Given the description of an element on the screen output the (x, y) to click on. 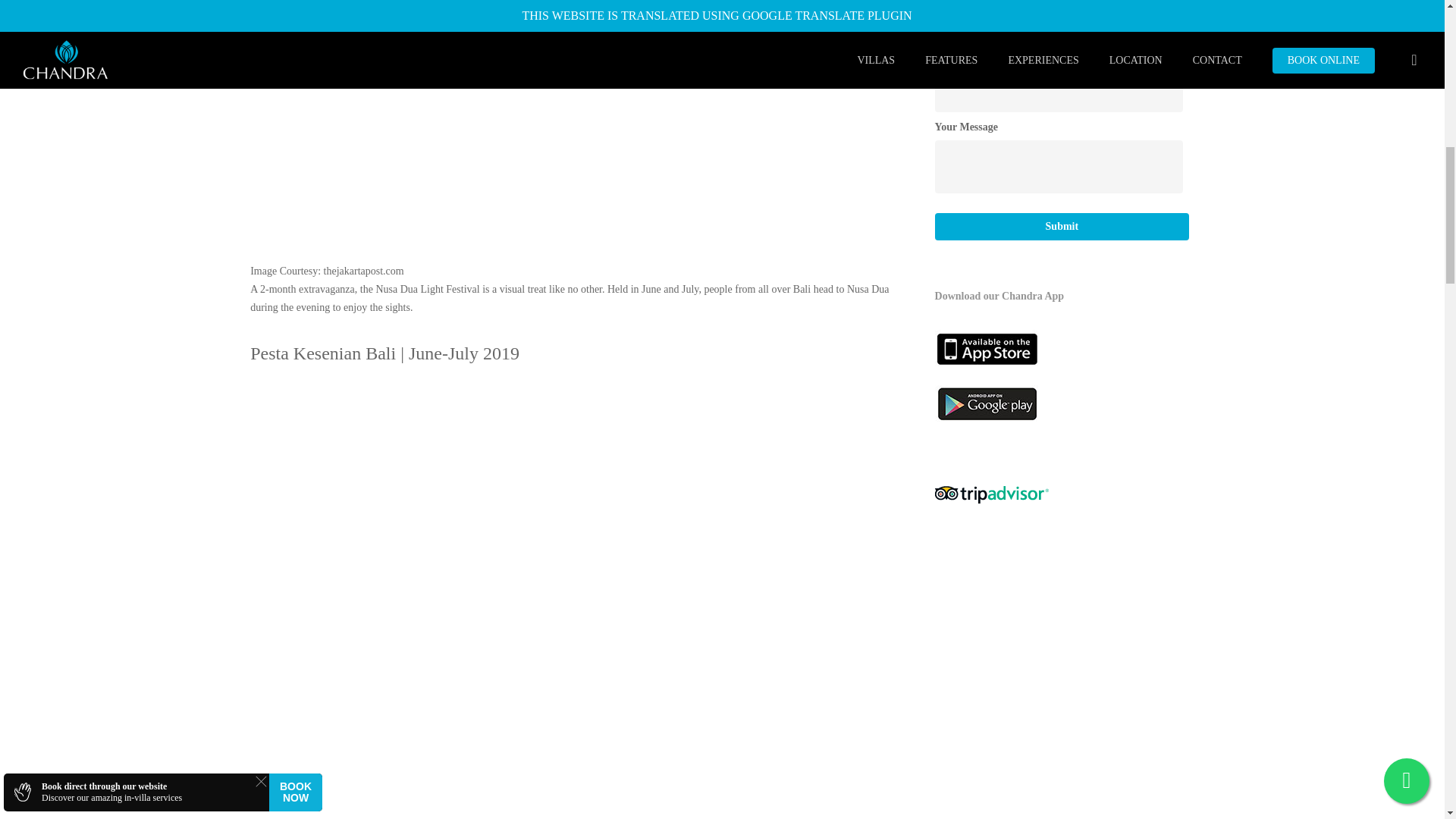
Chandra Bali Villas iPhone App (1037, 375)
Submit (1061, 226)
Chandra Bali Villas Android App (1037, 430)
Chandra Bali Villas iPhone App (1037, 348)
Chandra Bali Villas Android App (1037, 403)
